Given the description of an element on the screen output the (x, y) to click on. 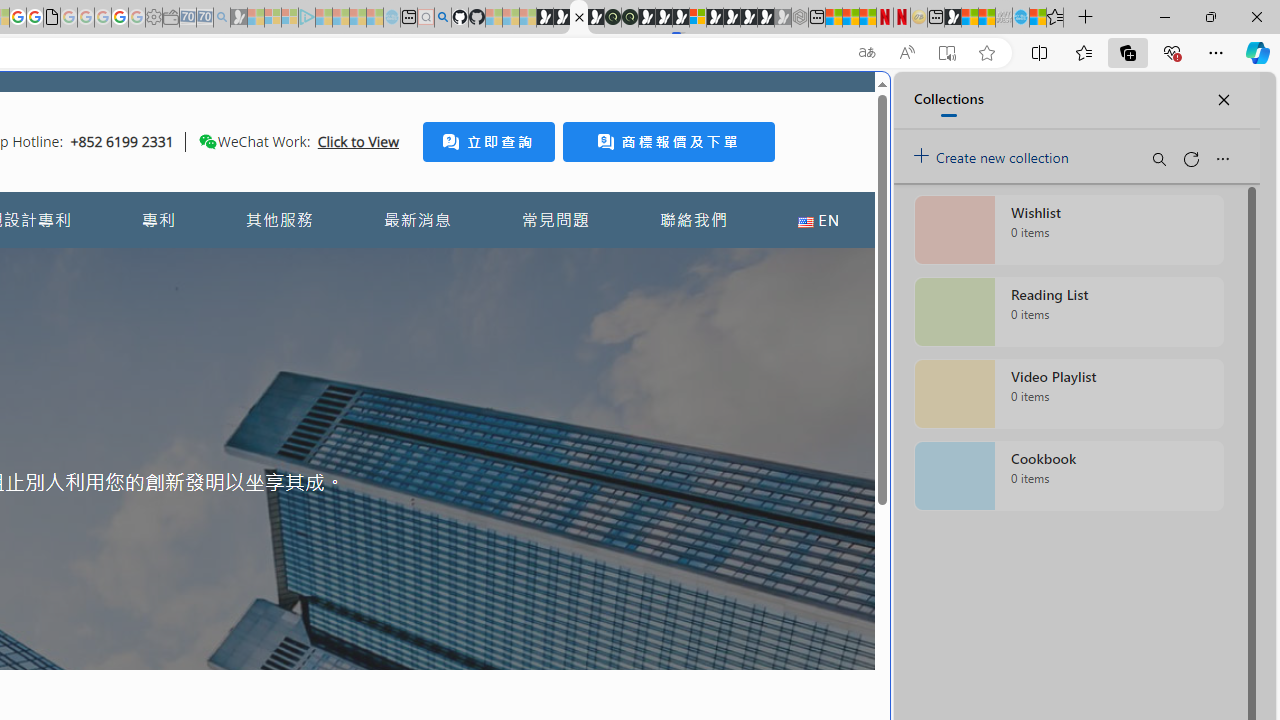
Class: desktop (207, 141)
Bing Real Estate - Home sales and rental listings - Sleeping (221, 17)
Play Cave FRVR in your browser | Games from Microsoft Start (663, 17)
